Given the description of an element on the screen output the (x, y) to click on. 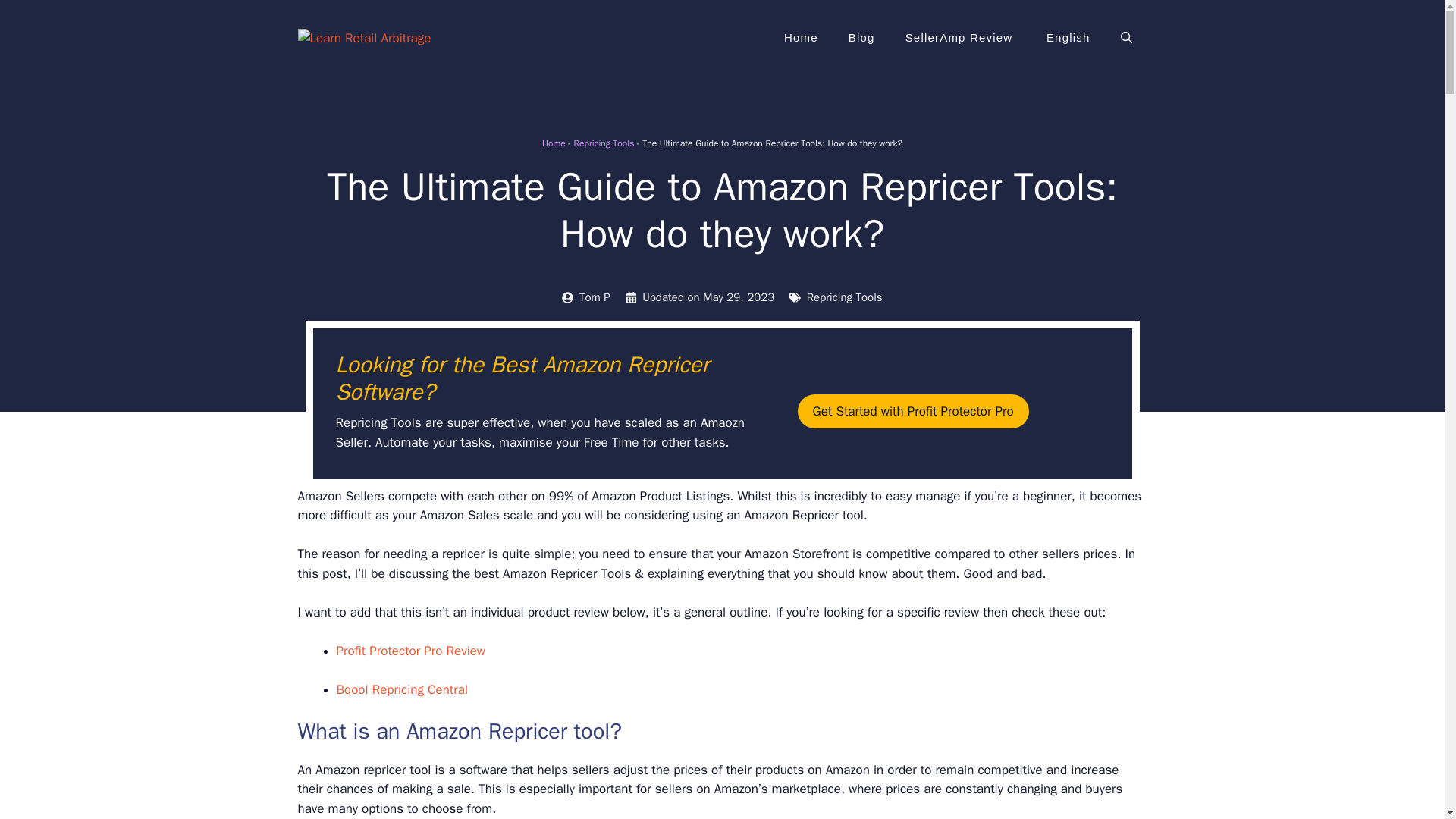
Home (553, 143)
Home (800, 37)
Profit Protector Pro Review (411, 650)
SellerAmp Review (958, 37)
Repricing Tools (603, 143)
English (1066, 37)
Get Started with Profit Protector Pro (913, 411)
Repricing Tools (844, 296)
English (1066, 37)
Blog (860, 37)
